Given the description of an element on the screen output the (x, y) to click on. 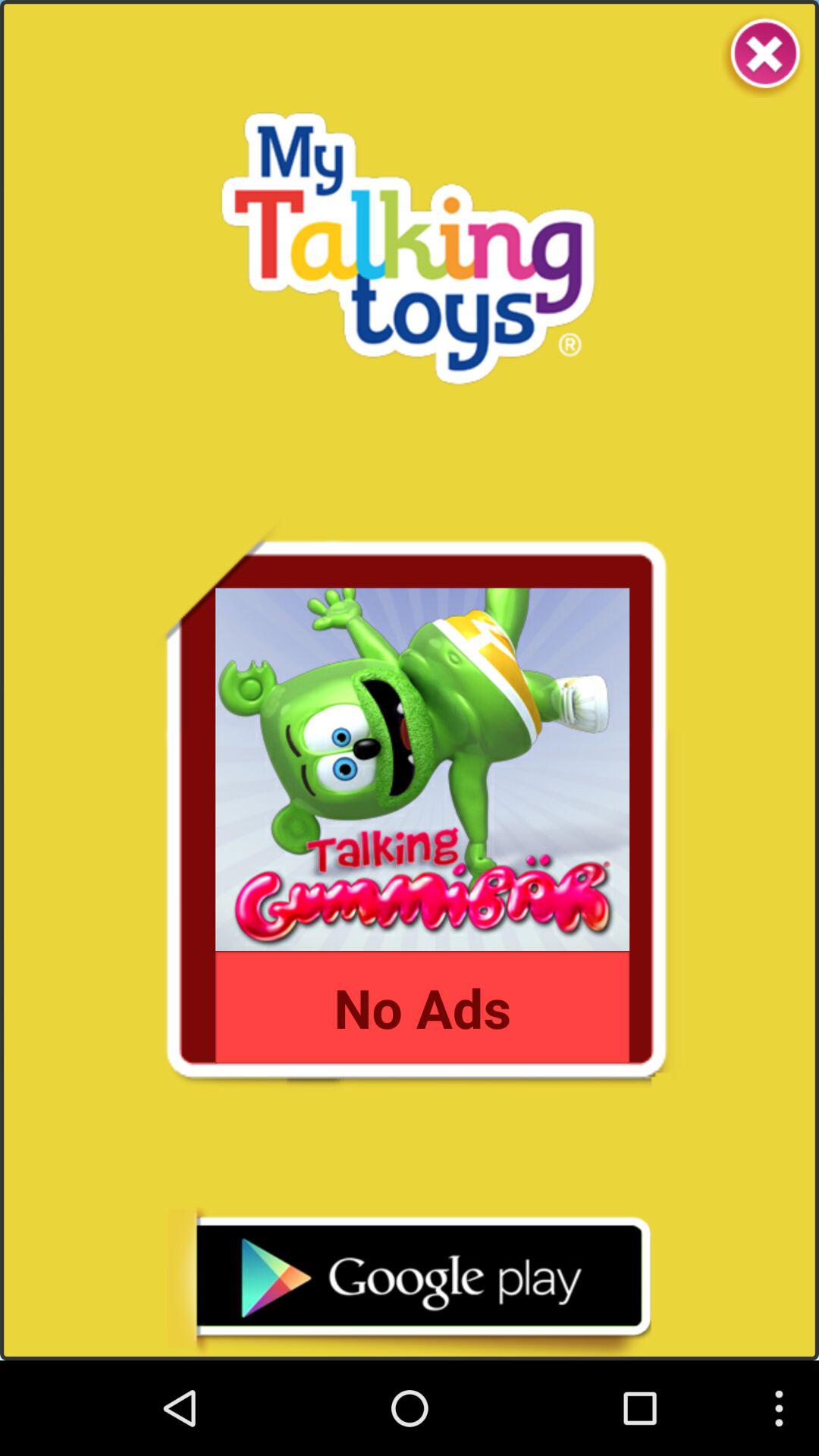
open google play store (409, 1283)
